Given the description of an element on the screen output the (x, y) to click on. 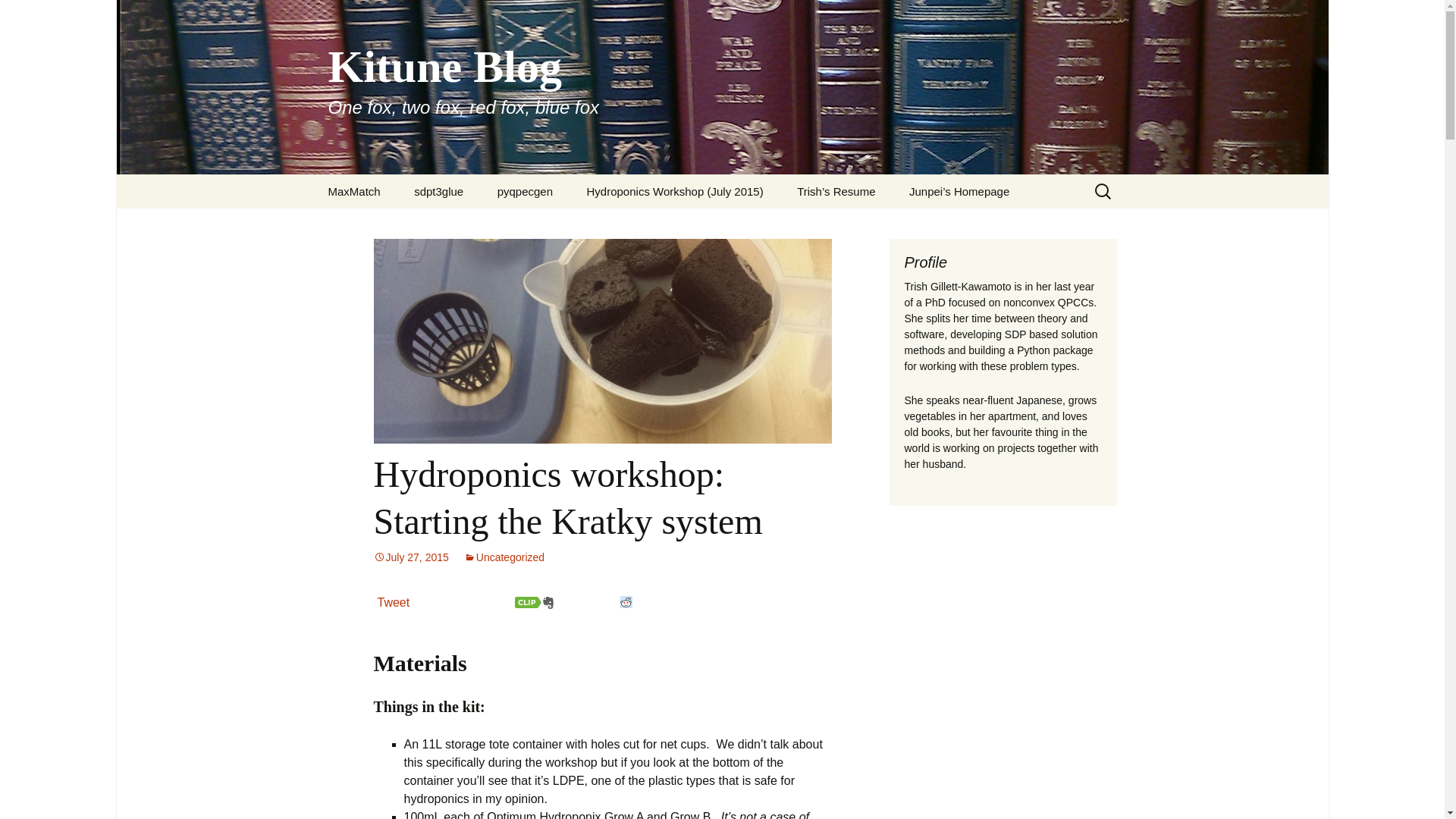
Search (34, 15)
Share on reddit (625, 602)
Uncategorized (504, 557)
Search (18, 15)
July 27, 2015 (410, 557)
MaxMatch (353, 191)
